Given the description of an element on the screen output the (x, y) to click on. 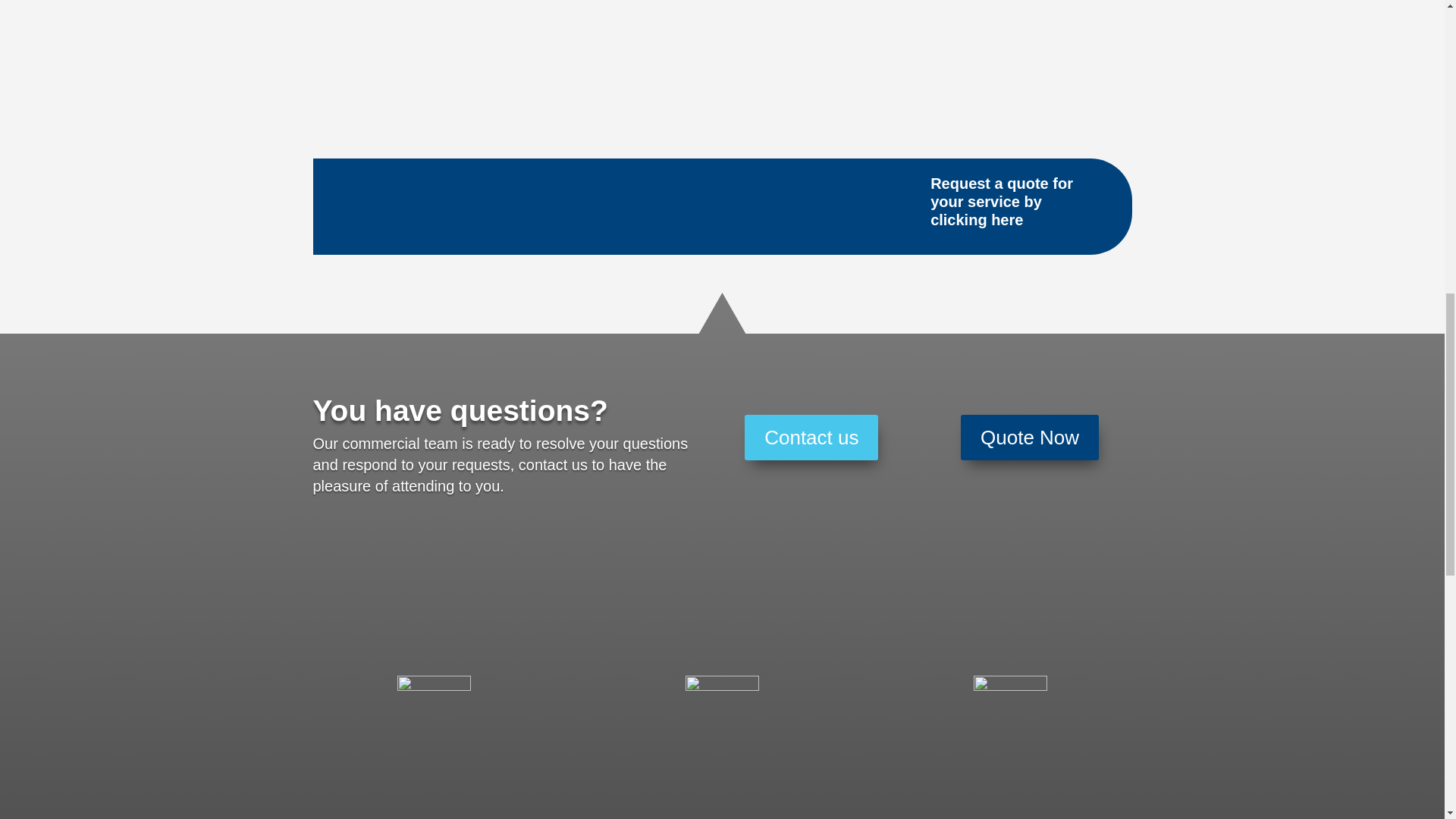
IcosContadores-B06 (433, 711)
Quote Now (1029, 437)
Request a quote for your service by clicking here (1001, 201)
IcosContadores-B05 (1010, 711)
IcosContadores-B01 (721, 711)
Contact us (810, 437)
